Given the description of an element on the screen output the (x, y) to click on. 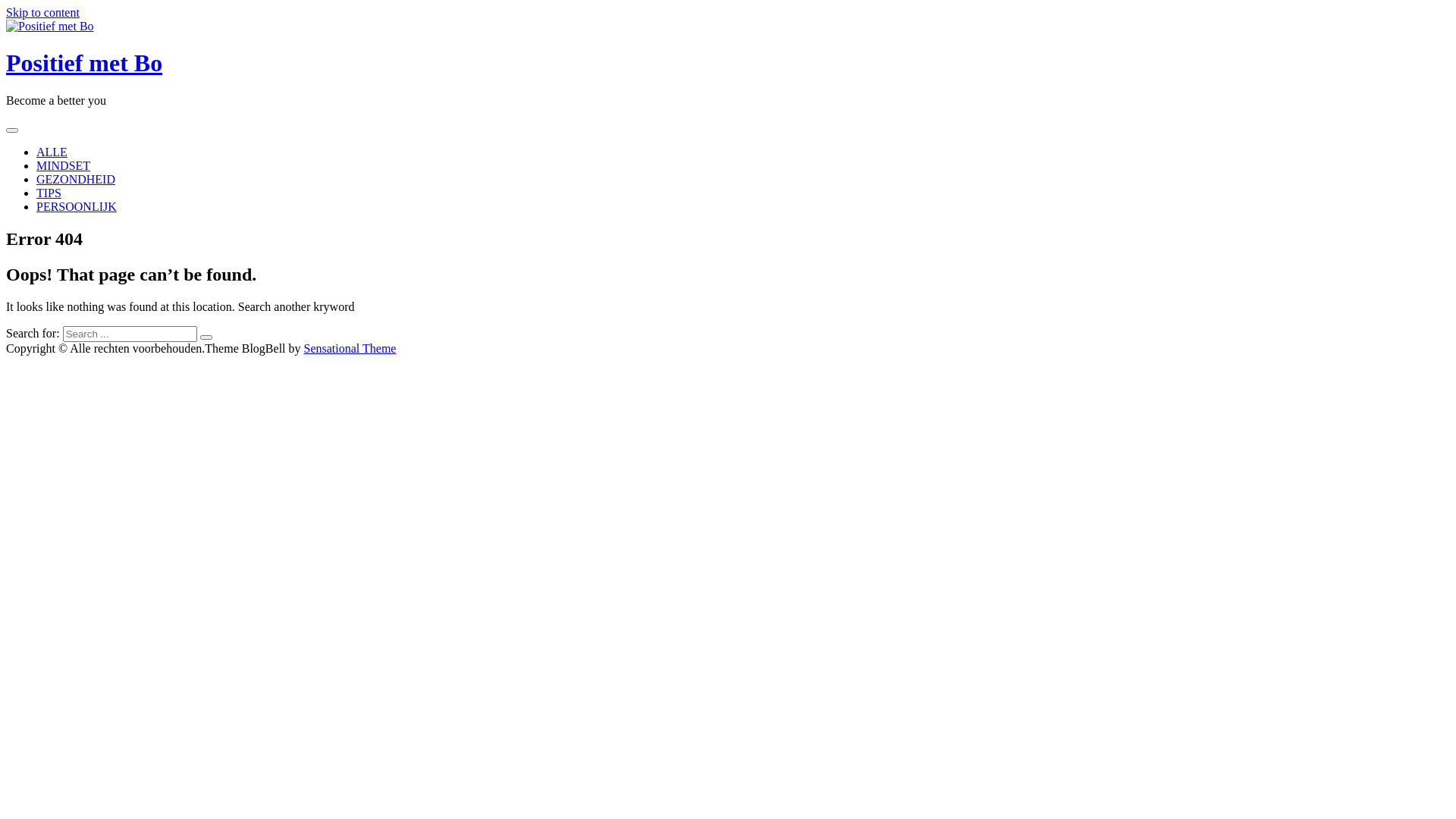
ALLE Element type: text (51, 151)
Positief met Bo Element type: text (84, 62)
PERSOONLIJK Element type: text (76, 206)
MINDSET Element type: text (63, 165)
Search for: Element type: hover (129, 334)
Sensational Theme Element type: text (350, 348)
Search Element type: text (206, 337)
Skip to content Element type: text (42, 12)
TIPS Element type: text (48, 192)
GEZONDHEID Element type: text (75, 178)
